Given the description of an element on the screen output the (x, y) to click on. 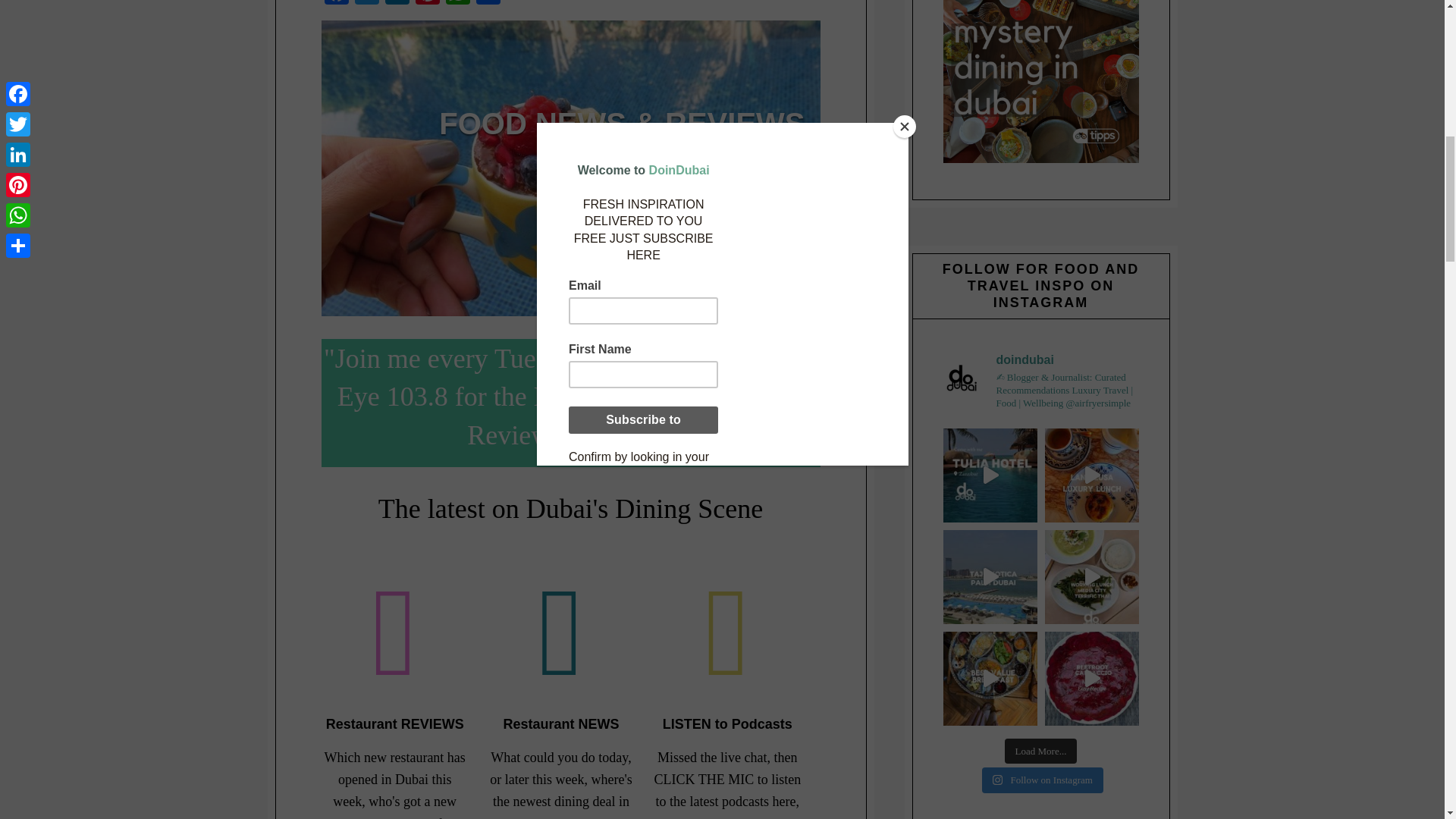
Pinterest (427, 4)
WhatsApp (457, 4)
Facebook (336, 4)
Twitter (366, 4)
LinkedIn (396, 4)
